Given the description of an element on the screen output the (x, y) to click on. 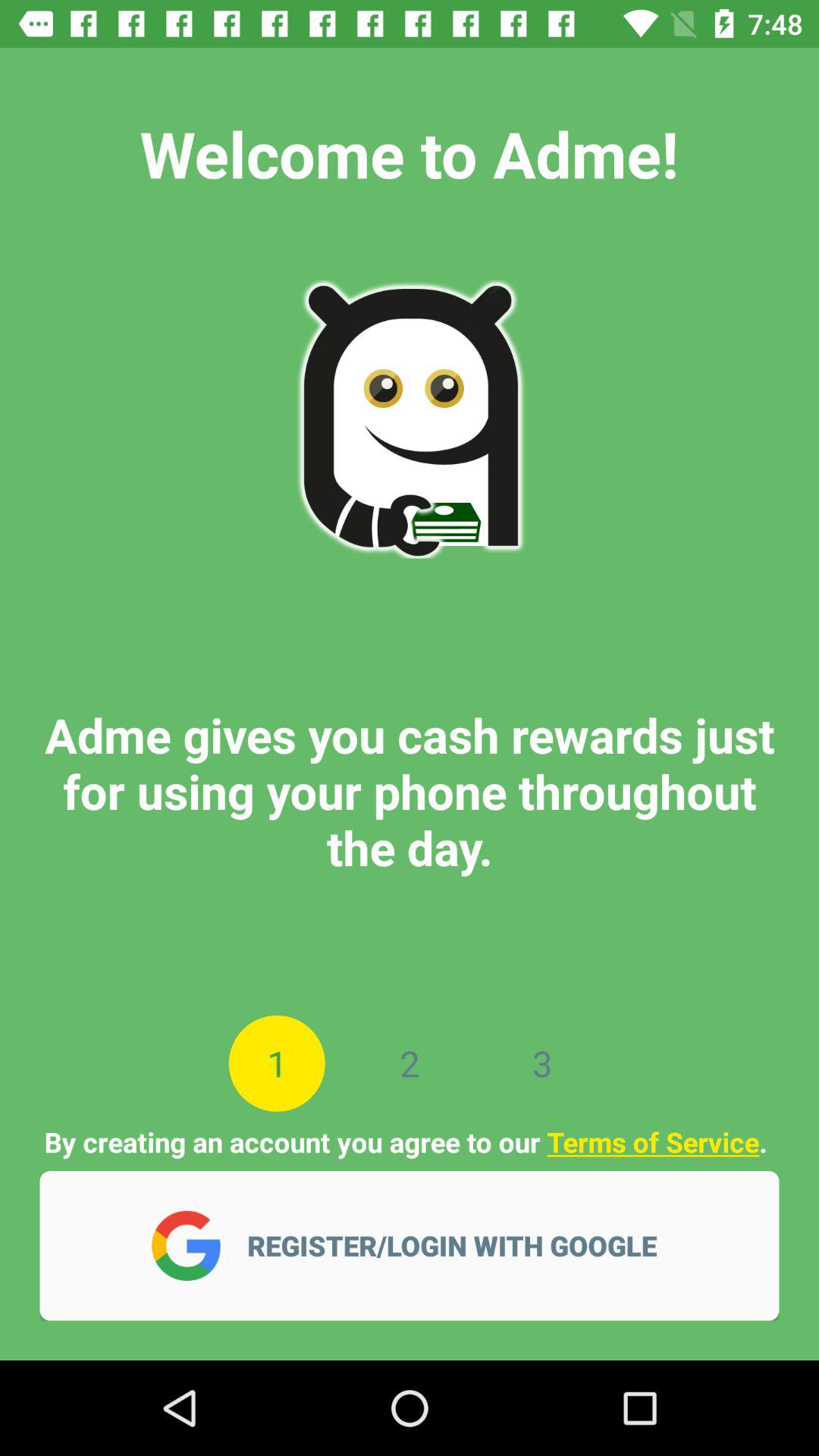
open the register login with icon (461, 1245)
